Given the description of an element on the screen output the (x, y) to click on. 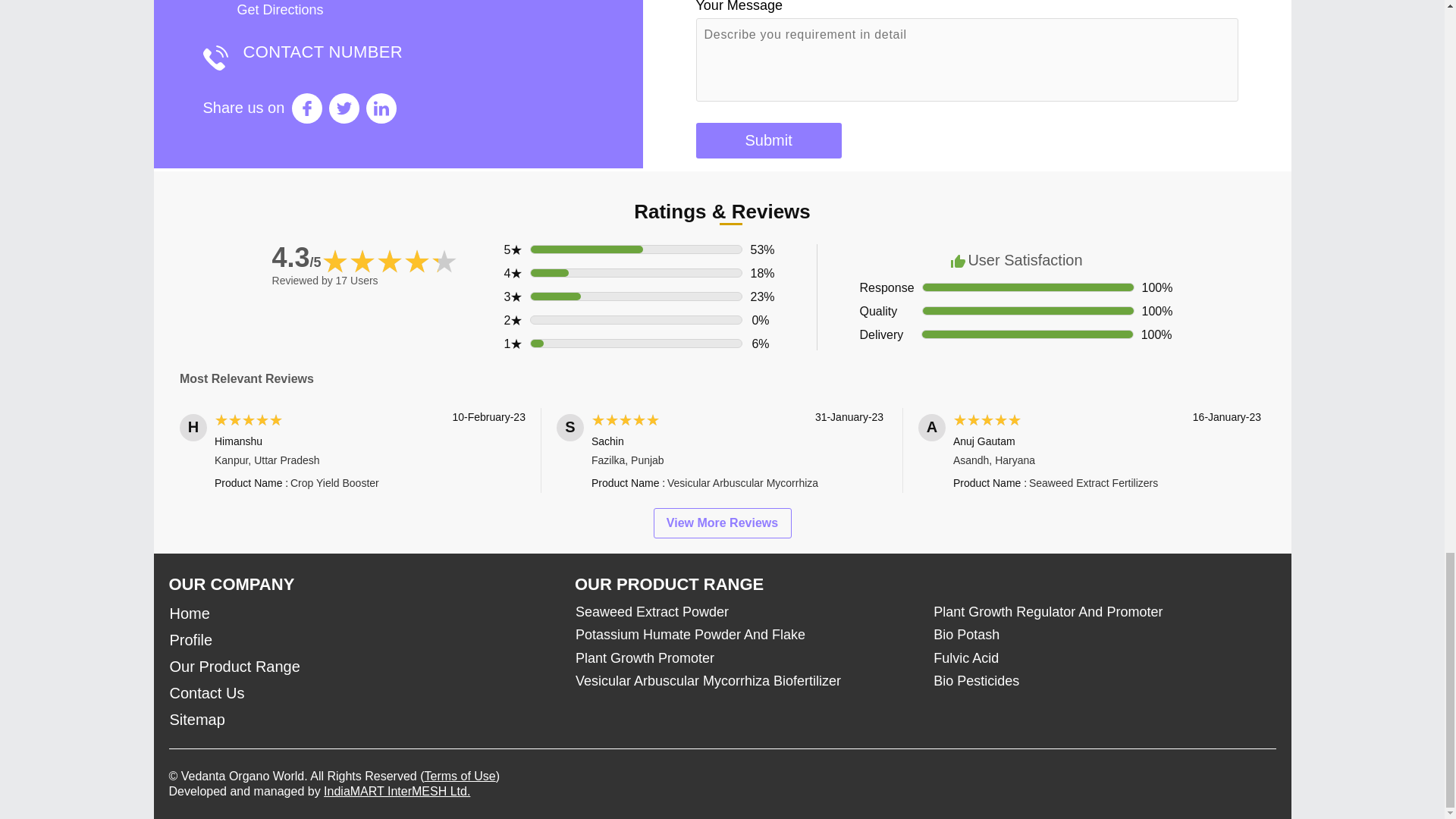
Submit (768, 140)
4.3 out of 5 Votes (296, 256)
